Given the description of an element on the screen output the (x, y) to click on. 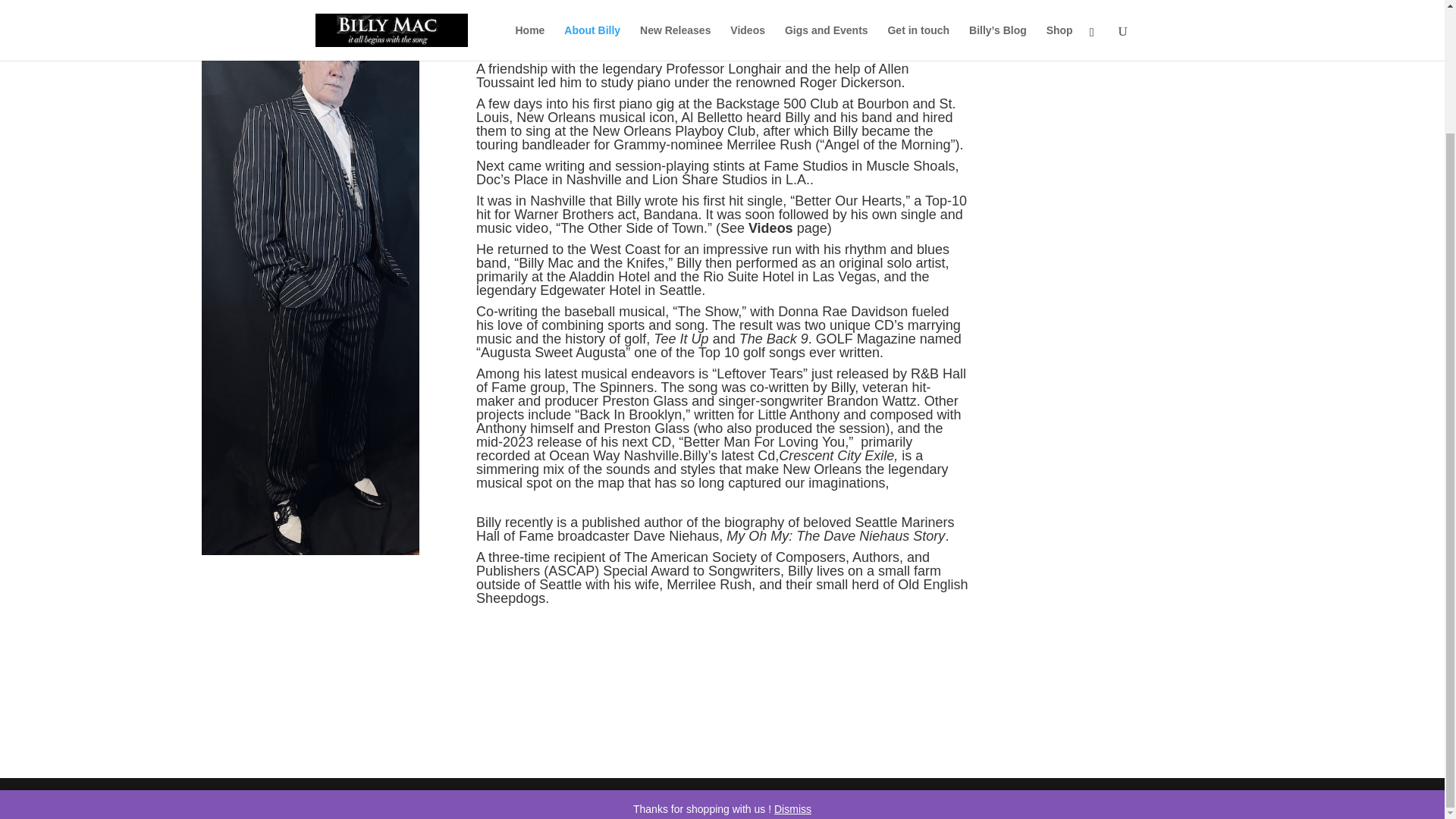
Dismiss (792, 661)
Videos (770, 227)
24x7wpsupport (714, 797)
